Given the description of an element on the screen output the (x, y) to click on. 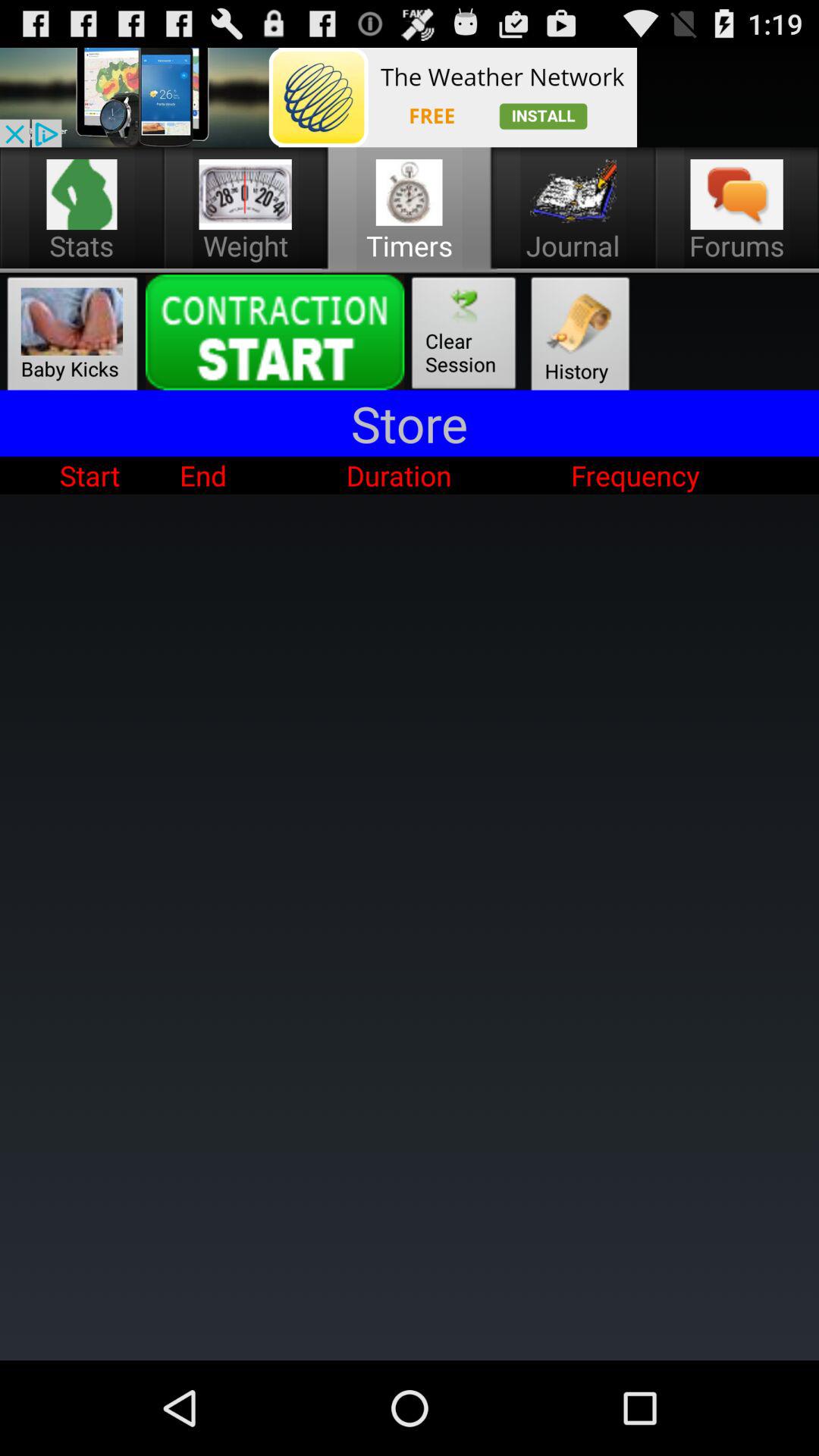
add button (318, 97)
